Given the description of an element on the screen output the (x, y) to click on. 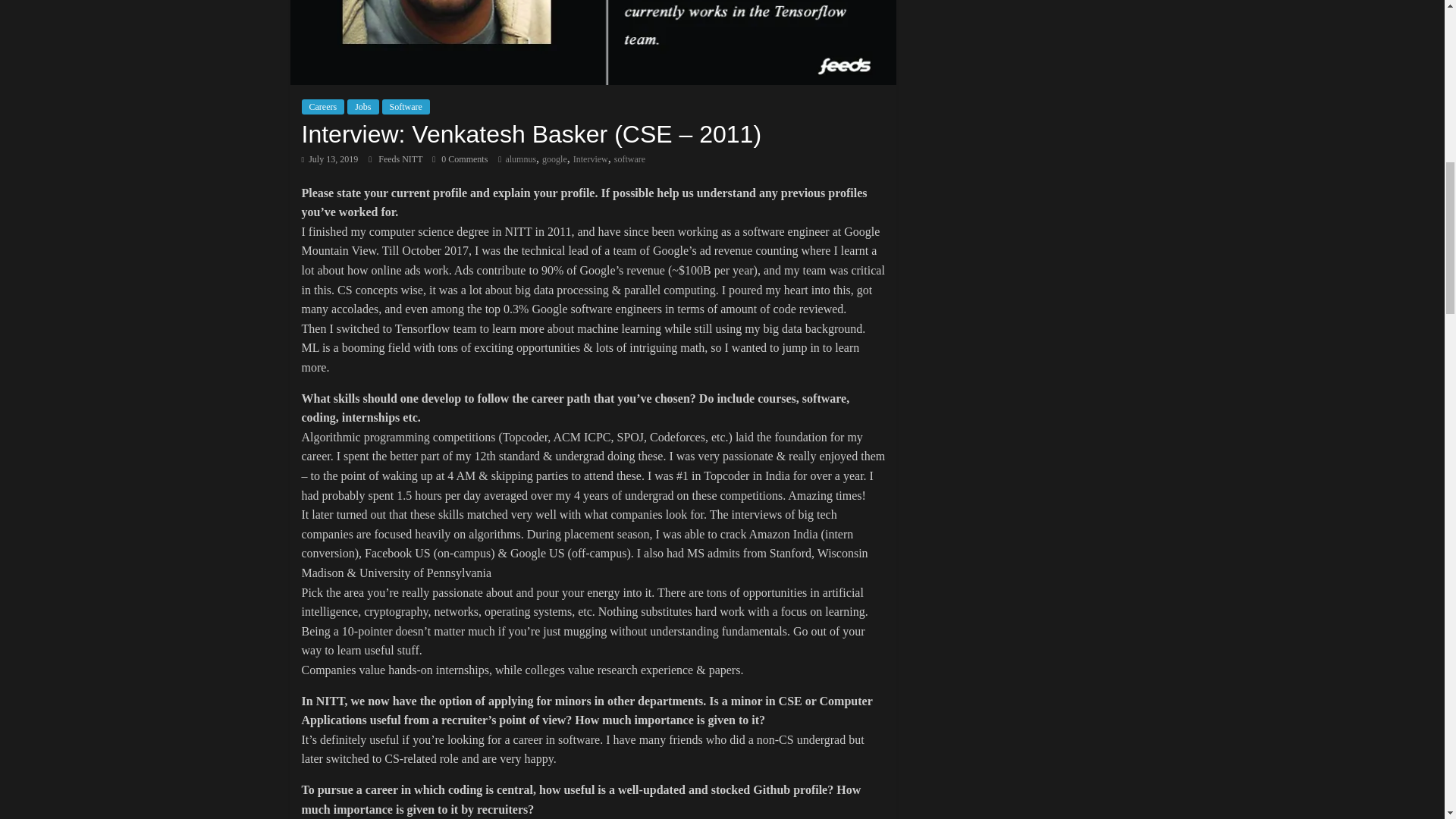
8:08 pm (329, 158)
Feeds NITT (401, 158)
